Given the description of an element on the screen output the (x, y) to click on. 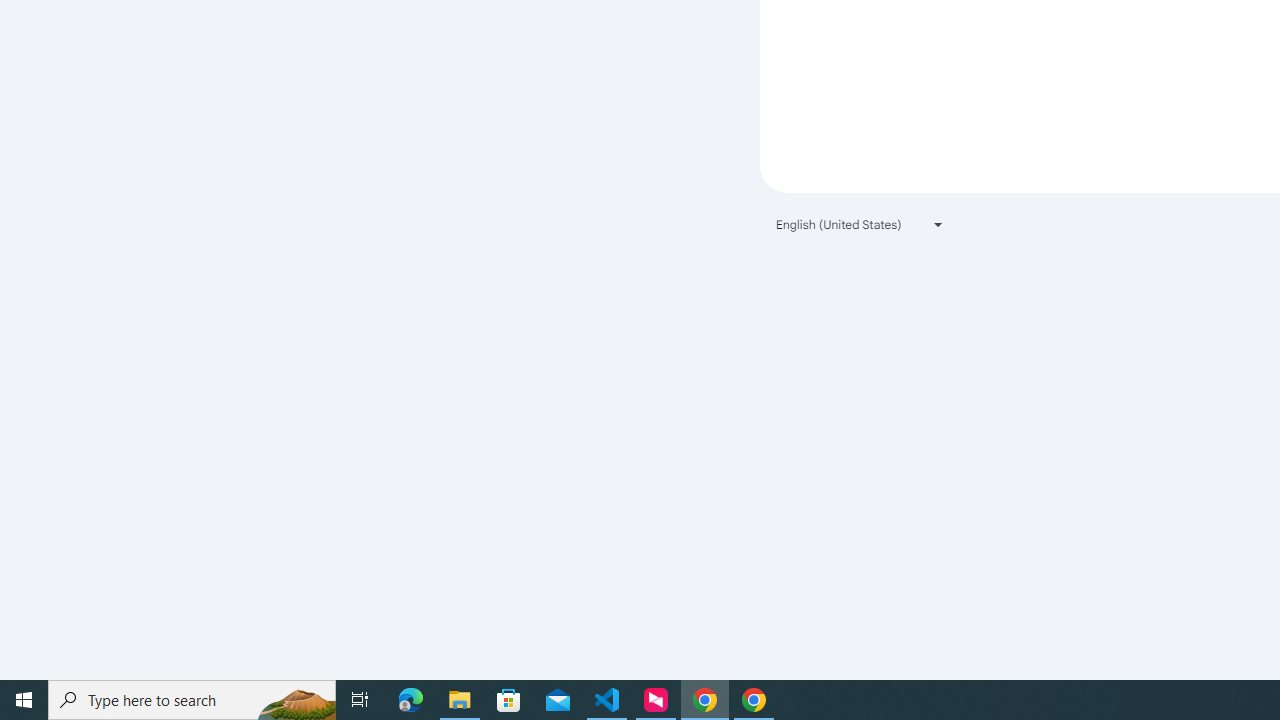
English (United States) (860, 224)
